Given the description of an element on the screen output the (x, y) to click on. 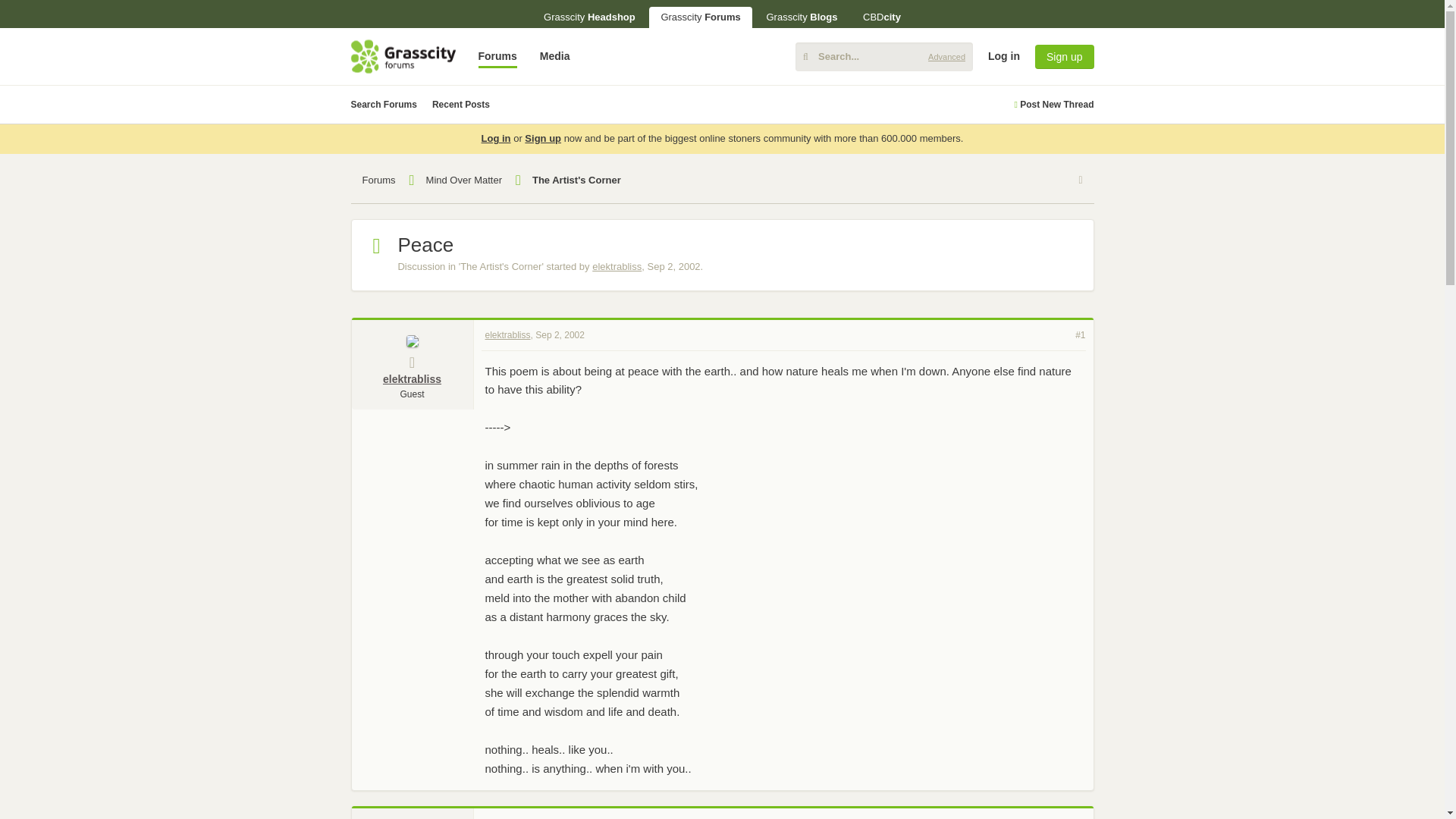
Sep 2, 2002 at 3:46 PM (673, 266)
Advanced (946, 56)
Search Forums (383, 104)
Grasscity Headshop (589, 16)
Media (554, 56)
Log in (1316, 172)
Enter your search and hit enter (883, 56)
CBDcity (881, 16)
Permalink (560, 334)
Forums (497, 56)
